Given the description of an element on the screen output the (x, y) to click on. 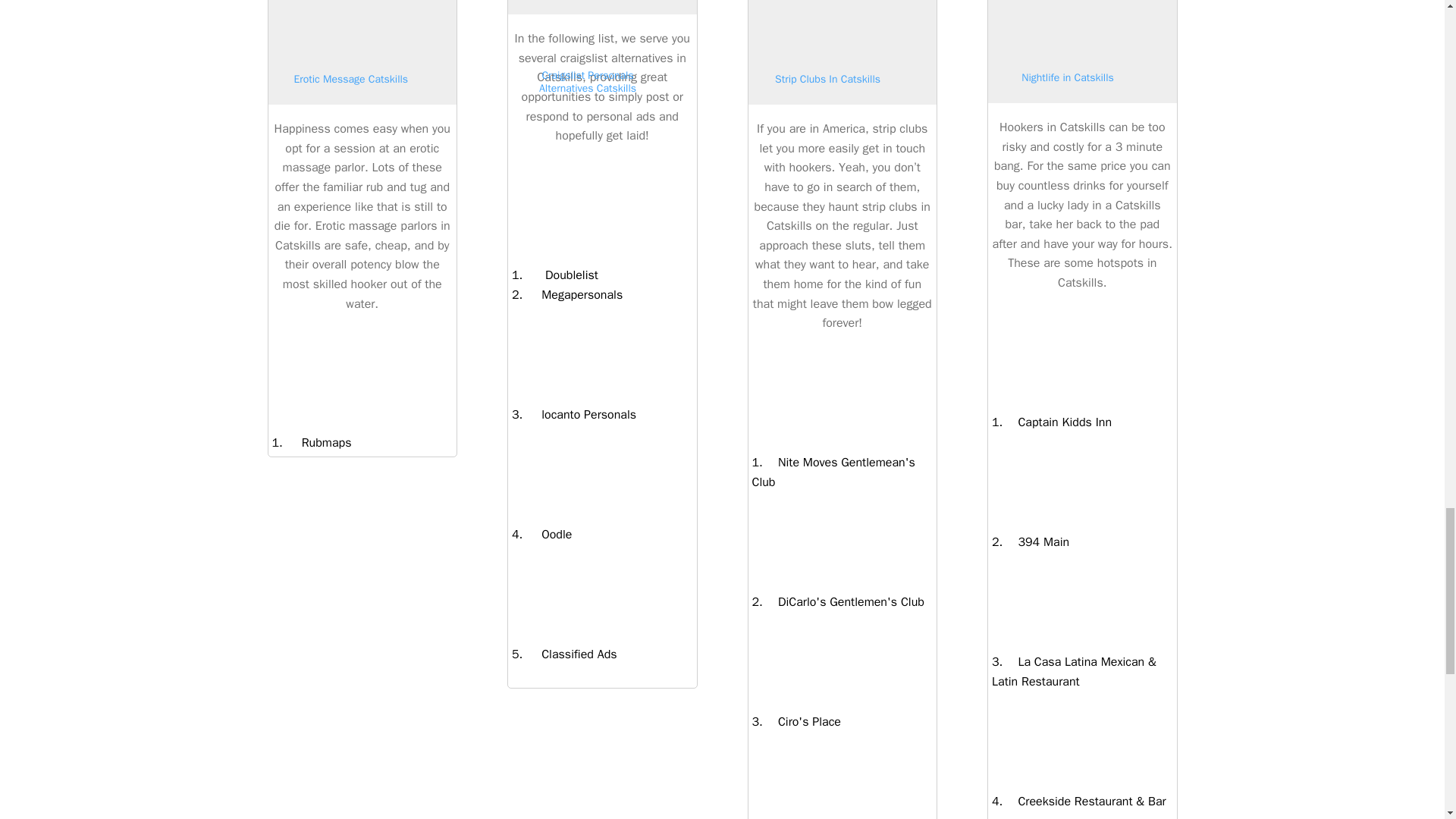
DiCarlo's Gentlemen's Club (843, 601)
Oodle (547, 534)
locanto Personals (579, 414)
394 Main (1035, 540)
Doublelist (560, 274)
Nite Moves Gentlemean's Club (833, 472)
Megapersonals (572, 294)
Rubmaps (317, 442)
Captain Kidds Inn (1057, 421)
Classified Ads (568, 654)
